Given the description of an element on the screen output the (x, y) to click on. 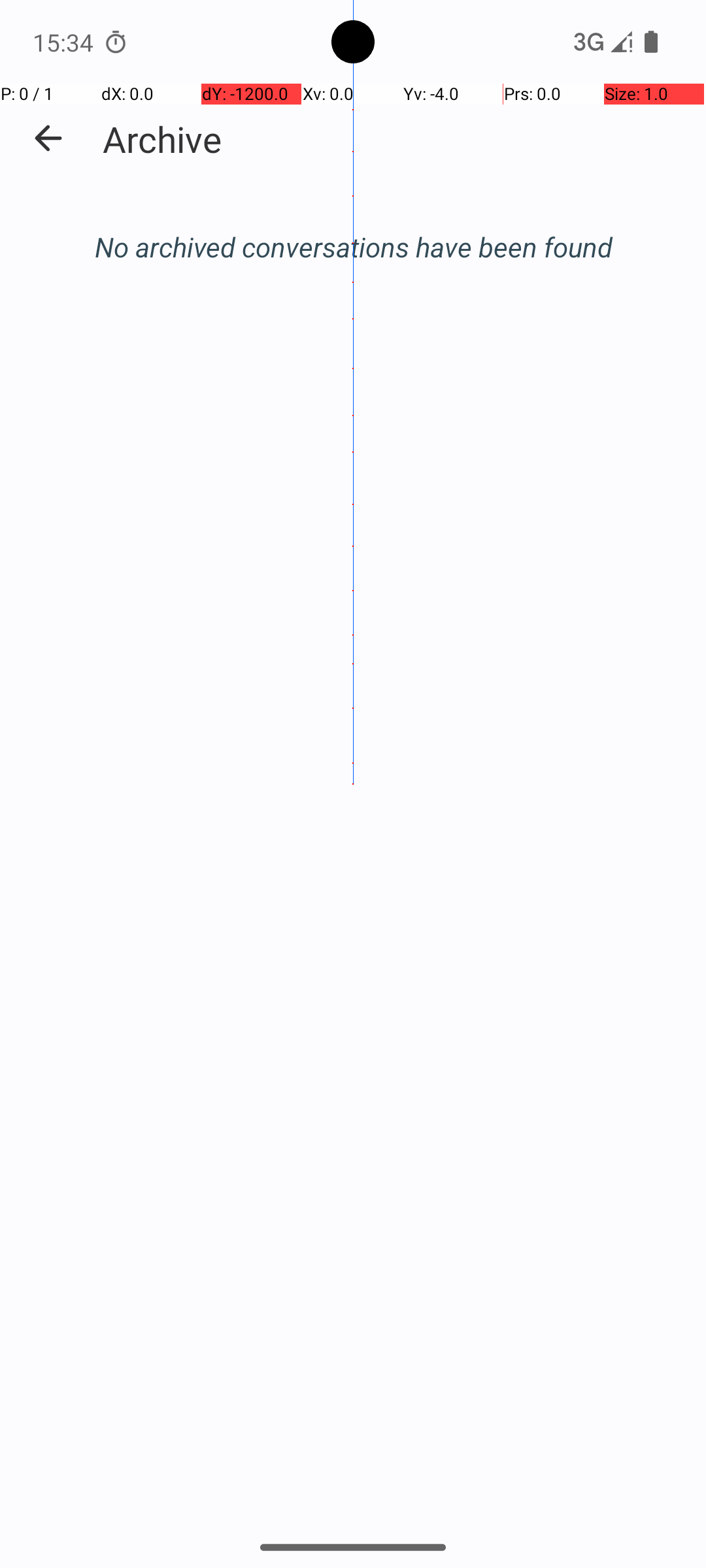
No archived conversations have been found Element type: android.widget.TextView (353, 246)
